Given the description of an element on the screen output the (x, y) to click on. 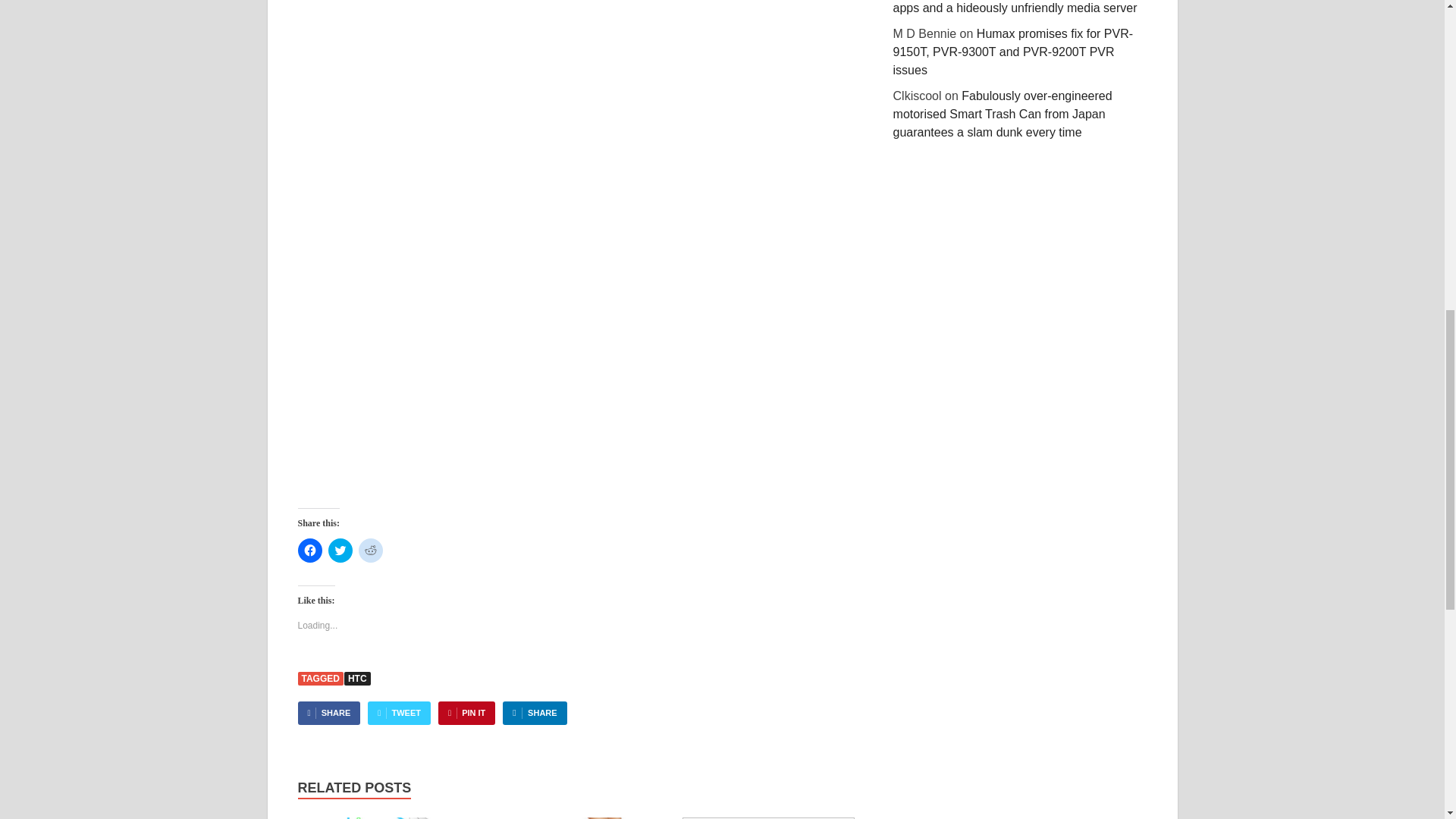
Click to share on Reddit (369, 550)
SHARE (328, 712)
SHARE (534, 712)
Click to share on Facebook (309, 550)
PIN IT (466, 712)
TWEET (399, 712)
Click to share on Twitter (339, 550)
HTC (357, 678)
